Given the description of an element on the screen output the (x, y) to click on. 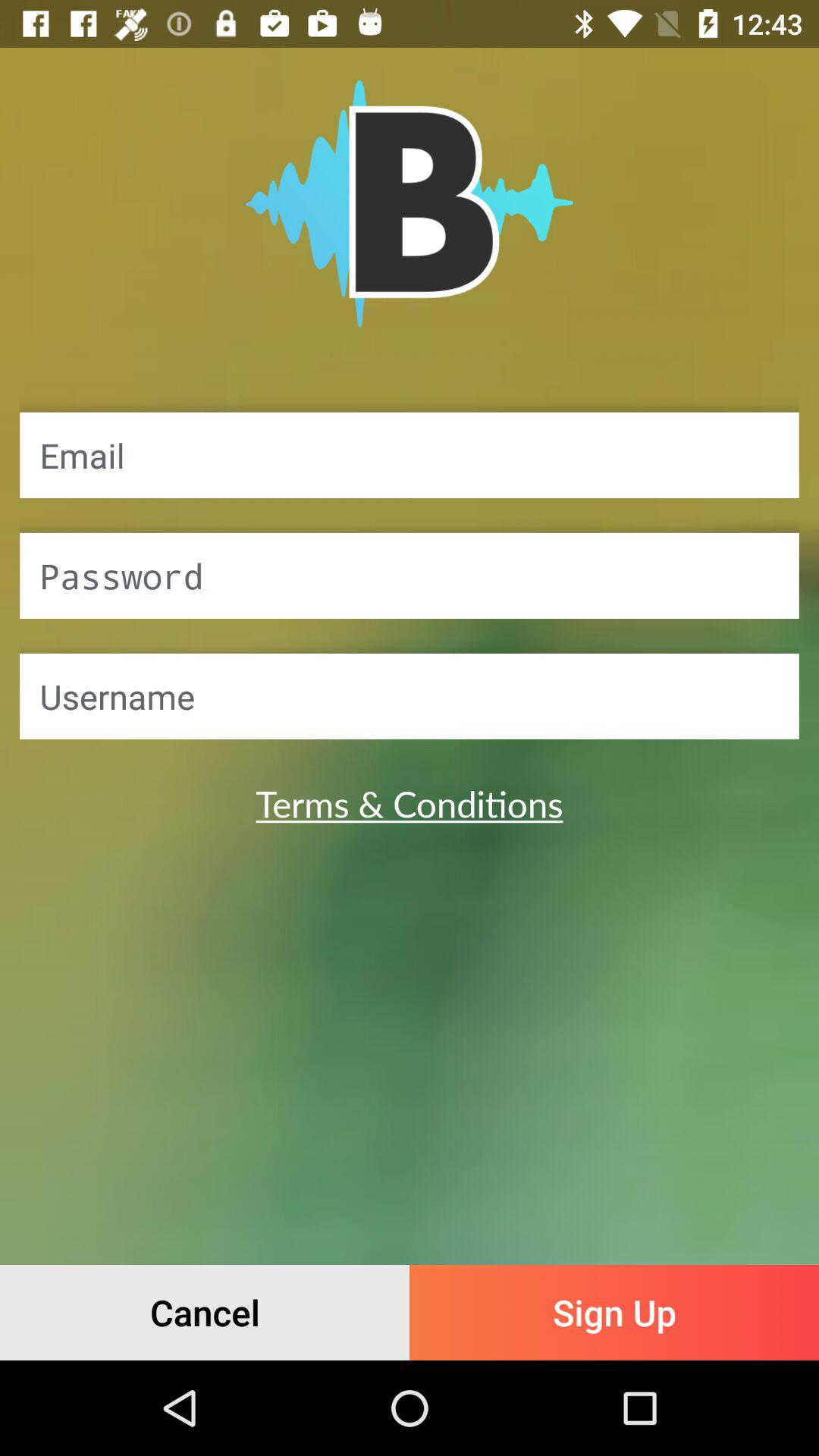
jump until sign up (614, 1312)
